Given the description of an element on the screen output the (x, y) to click on. 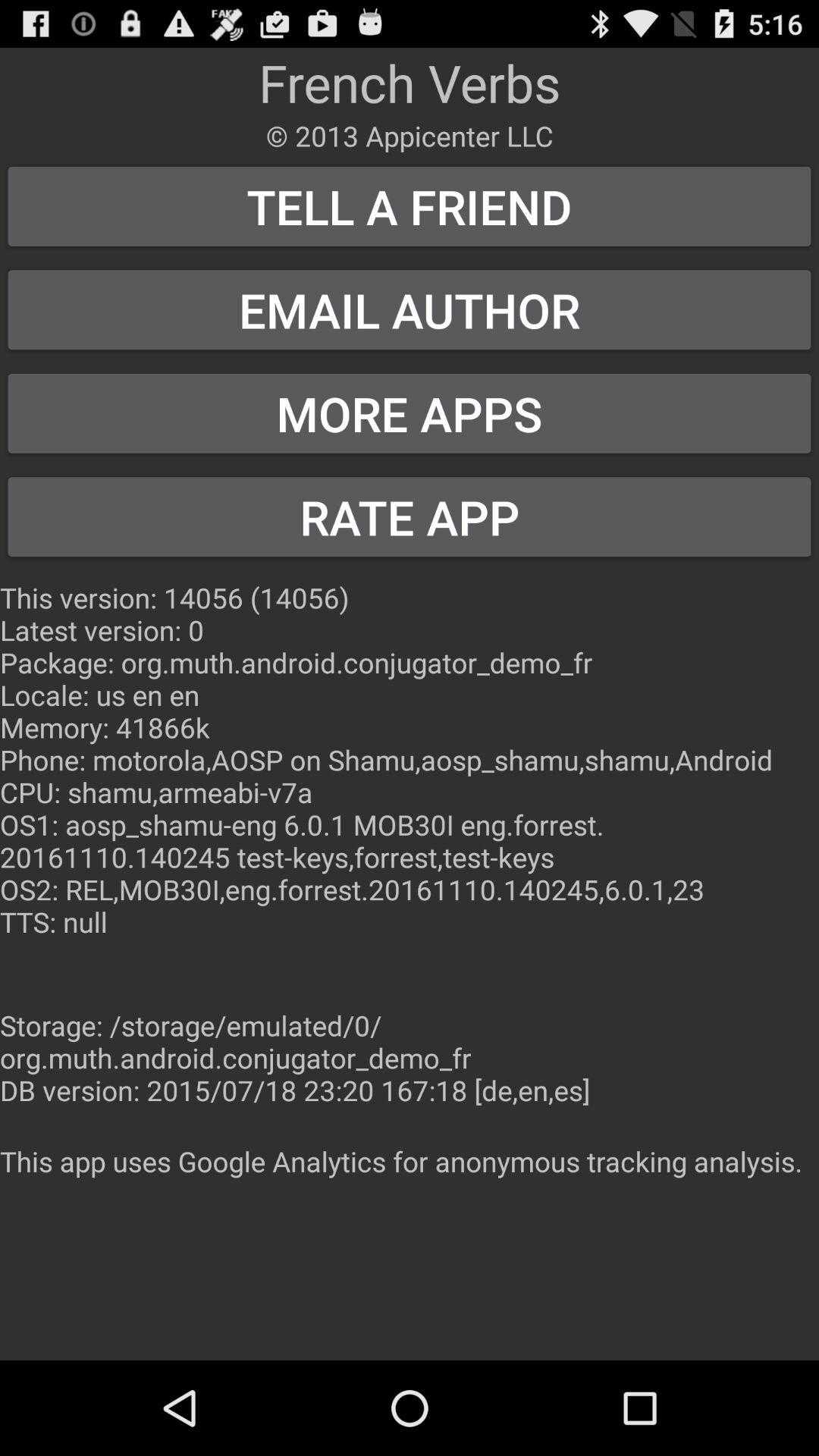
choose the more apps (409, 413)
